Given the description of an element on the screen output the (x, y) to click on. 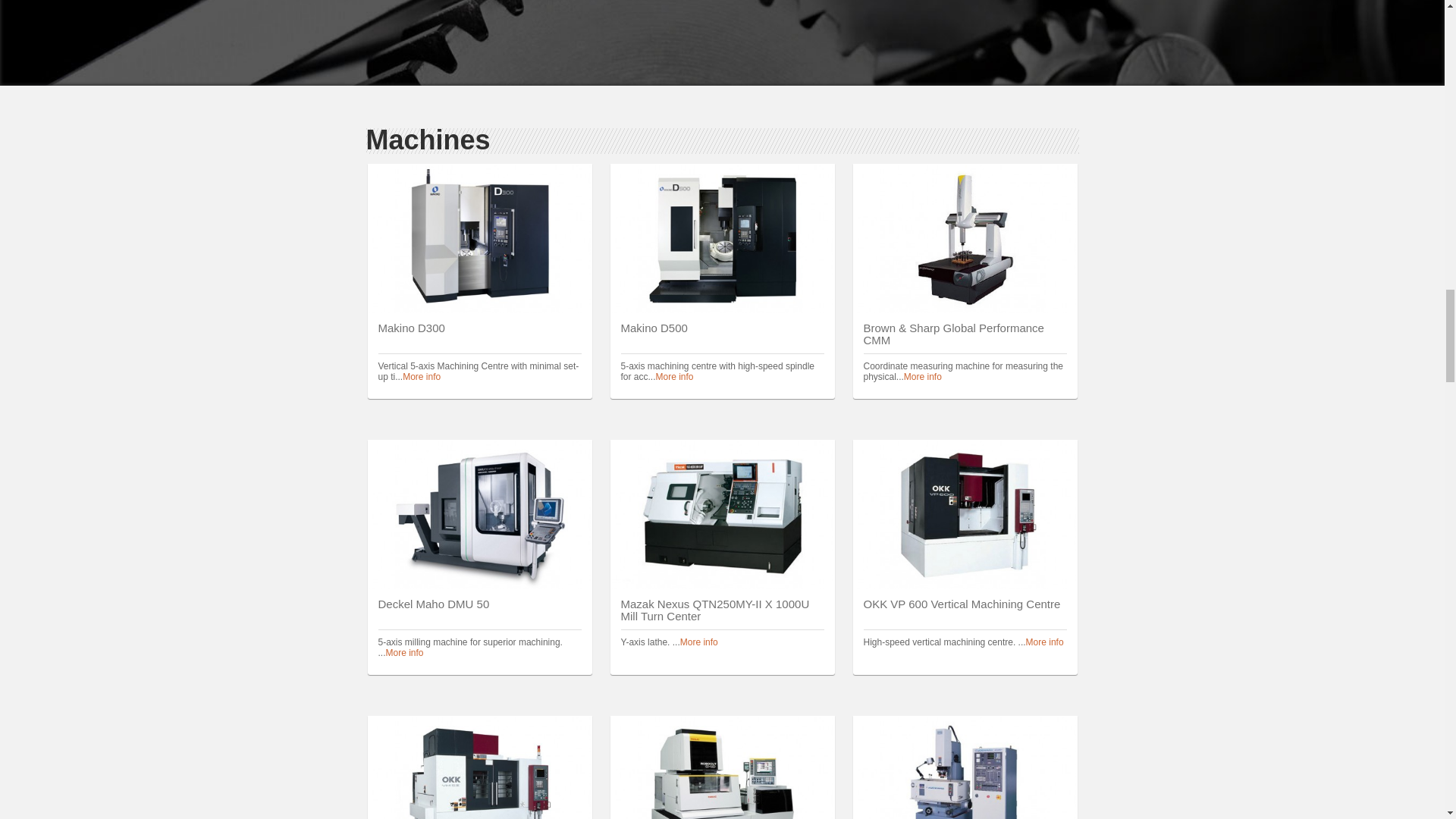
More info (675, 376)
More info (923, 376)
More info (422, 376)
More info (698, 642)
More info (404, 652)
More info (1045, 642)
